Given the description of an element on the screen output the (x, y) to click on. 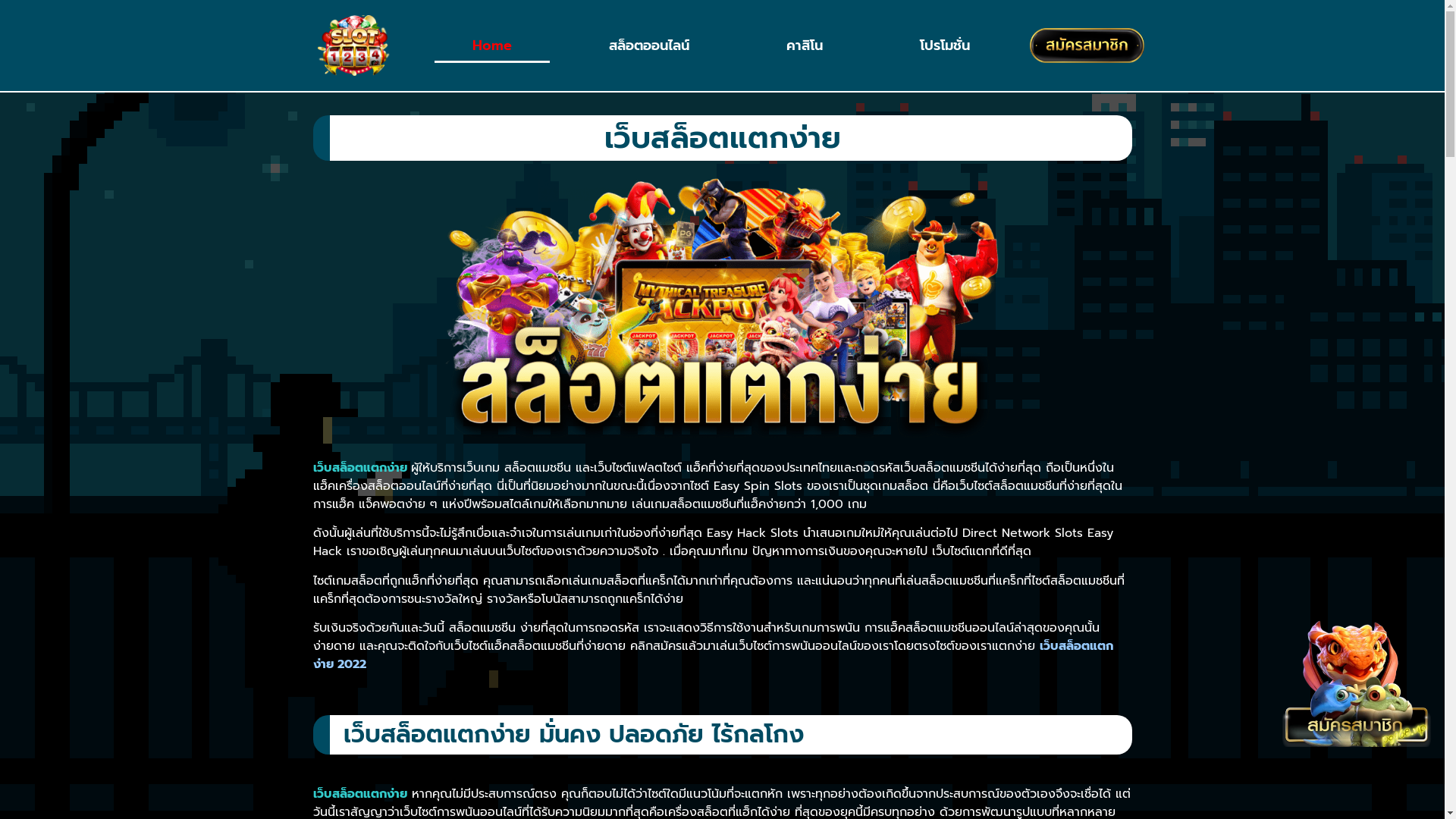
Home Element type: text (491, 45)
